Given the description of an element on the screen output the (x, y) to click on. 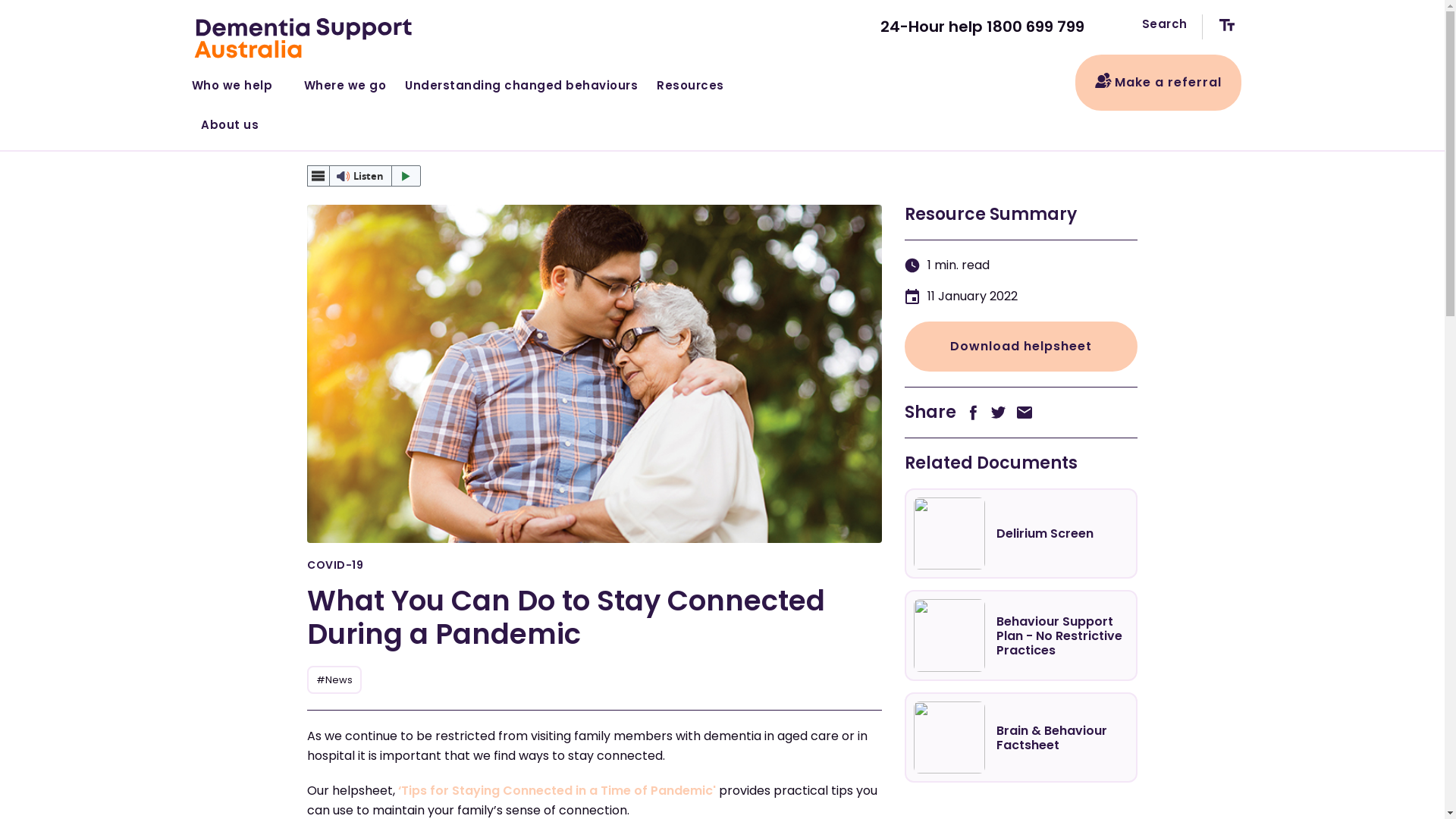
Resource Hub Element type: text (404, 140)
Make a referral Element type: text (1158, 82)
Brain & Behaviour Factsheet Element type: text (1020, 737)
Listen Element type: text (363, 175)
Home Element type: text (342, 140)
webReader menu Element type: hover (318, 175)
Delirium Screen Element type: text (1020, 533)
About us Element type: text (230, 121)
DSA landscape website logo_RGB Element type: hover (304, 38)
Documents Element type: text (480, 140)
Resources Element type: text (696, 82)
Where we go Element type: text (344, 82)
Understanding changed behaviours Element type: text (521, 82)
Behaviour Support Plan - No Restrictive Practices Element type: text (1020, 634)
Download helpsheet Element type: text (1020, 346)
Who we help Element type: text (242, 82)
